Given the description of an element on the screen output the (x, y) to click on. 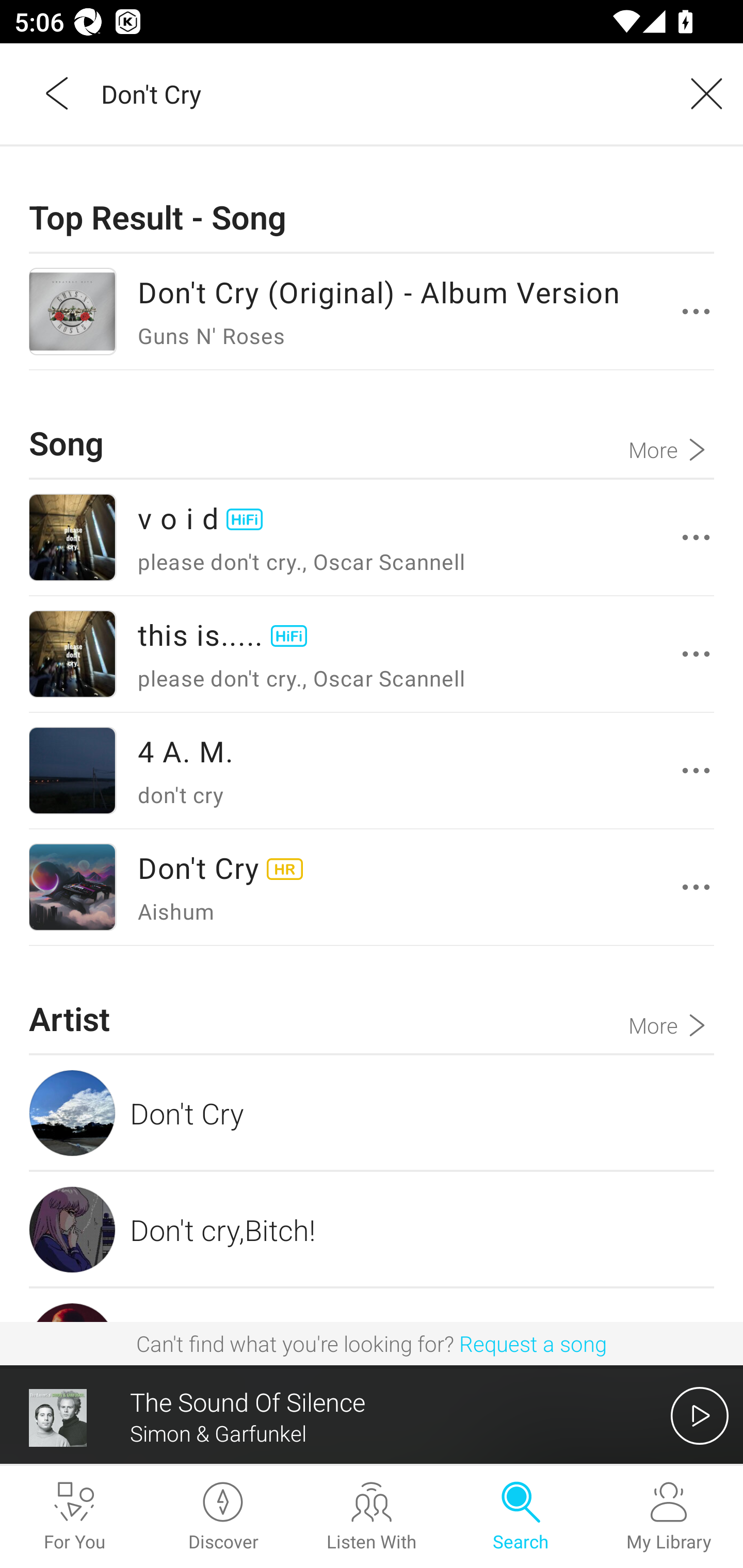
Don't Cry (378, 92)
Clear query (699, 92)
Back,outside of the list (57, 93)
更多操作選項 (695, 311)
More Song More (671, 424)
v o i d please don't cry., Oscar Scannell 更多操作選項 (371, 537)
更多操作選項 (695, 536)
更多操作選項 (695, 653)
4 A. M. don't cry 更多操作選項 (371, 770)
更多操作選項 (695, 770)
Don't Cry Aishum 更多操作選項 (371, 887)
更多操作選項 (695, 887)
More Artist More (671, 999)
Don't Cry (371, 1113)
Don't cry,Bitch! (371, 1229)
Can't find what you're looking for? Request a song (371, 1343)
開始播放 (699, 1415)
For You (74, 1517)
Discover (222, 1517)
Listen With (371, 1517)
Search (519, 1517)
My Library (668, 1517)
